Given the description of an element on the screen output the (x, y) to click on. 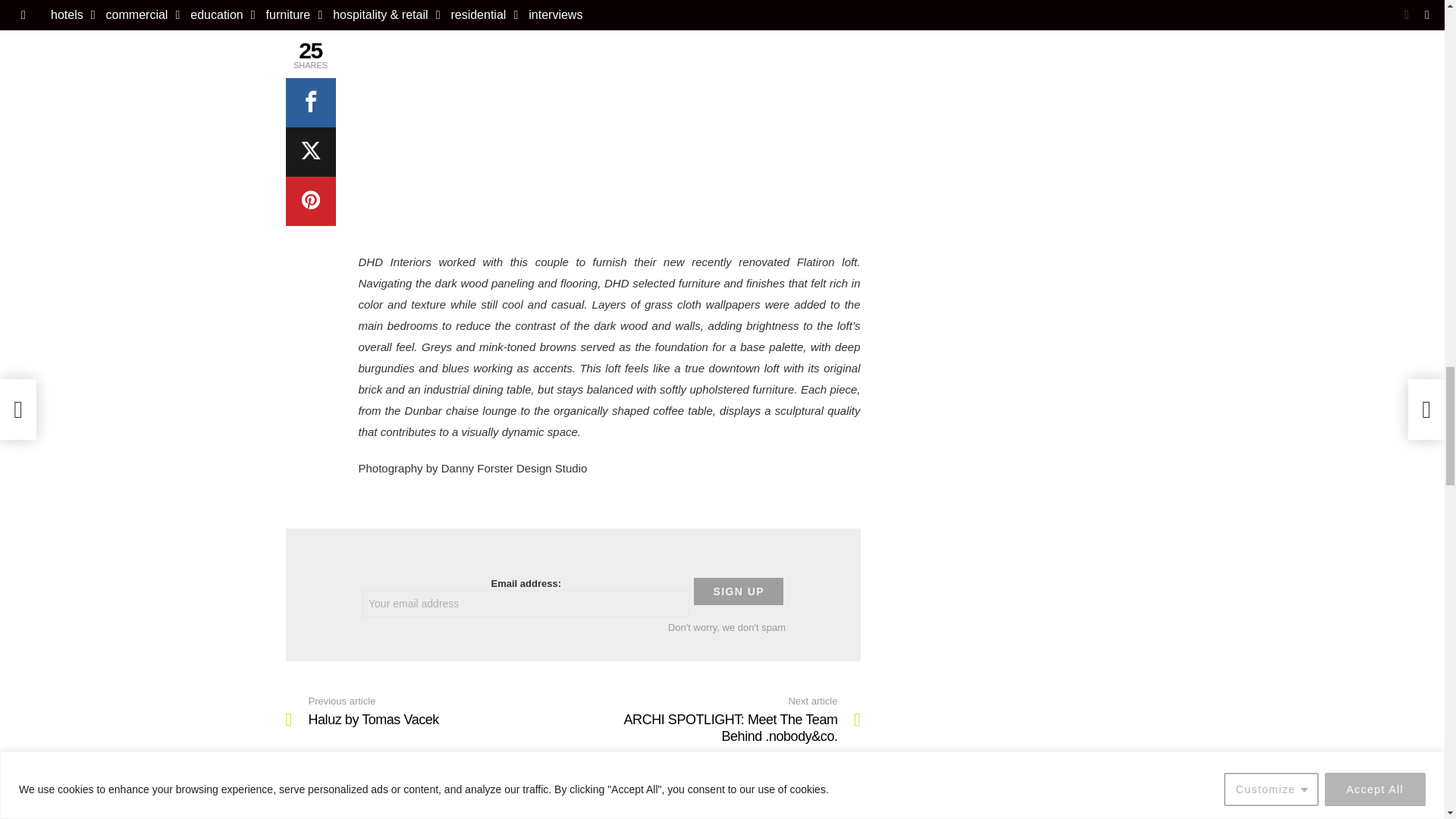
Sign up (738, 591)
